Given the description of an element on the screen output the (x, y) to click on. 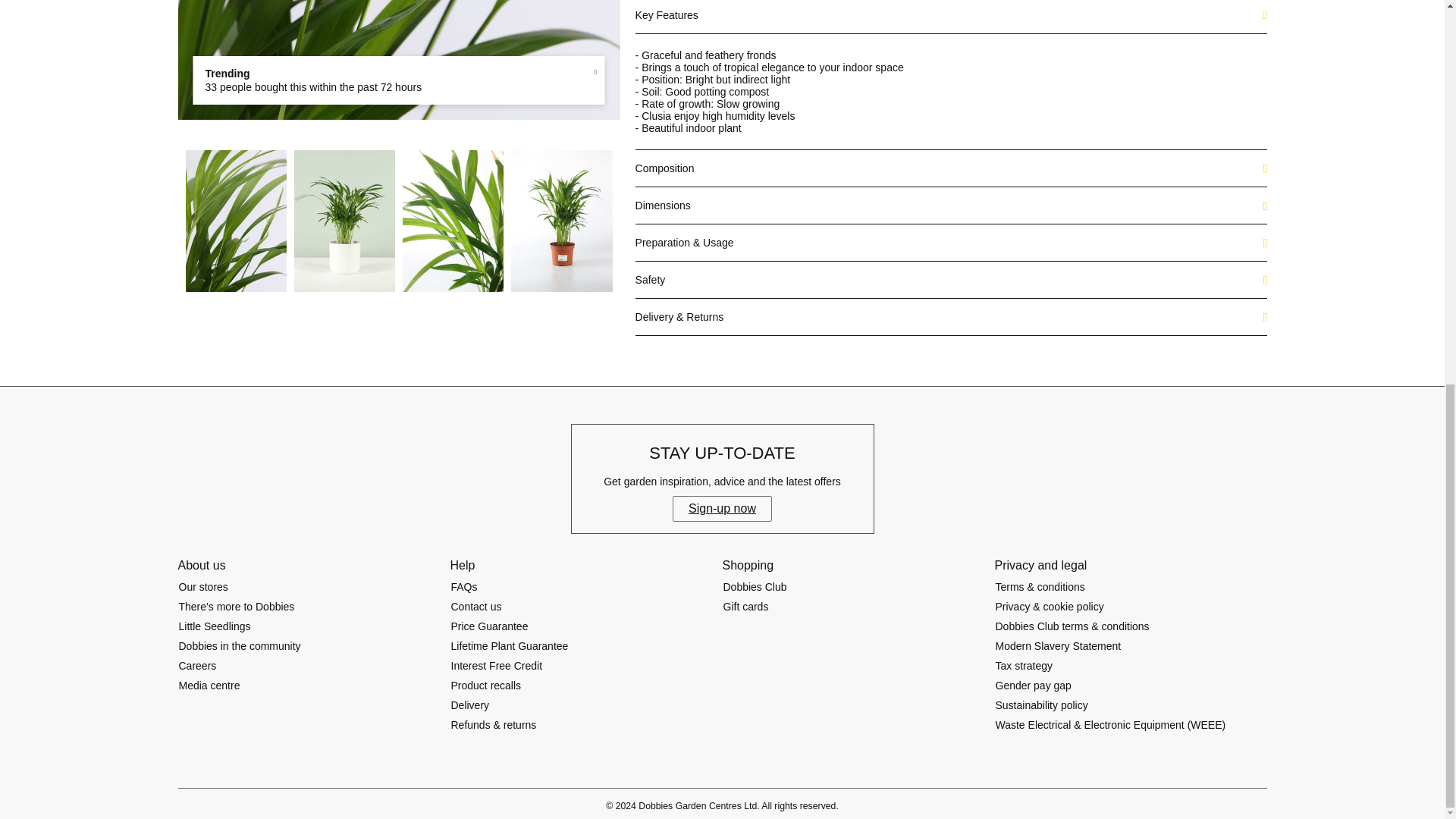
Interest Free Credit (496, 665)
Lifetime Plant Guarantee (509, 645)
Little Seedlings (213, 626)
Careers (196, 665)
Product recalls (485, 685)
Dobbies in the community (239, 645)
Price Guarantee (489, 626)
Media centre (208, 685)
Delivery (469, 704)
There's more to Dobbies (236, 606)
Sign-up now (721, 508)
Contact us (475, 606)
FAQs (464, 586)
Our stores (202, 586)
